Given the description of an element on the screen output the (x, y) to click on. 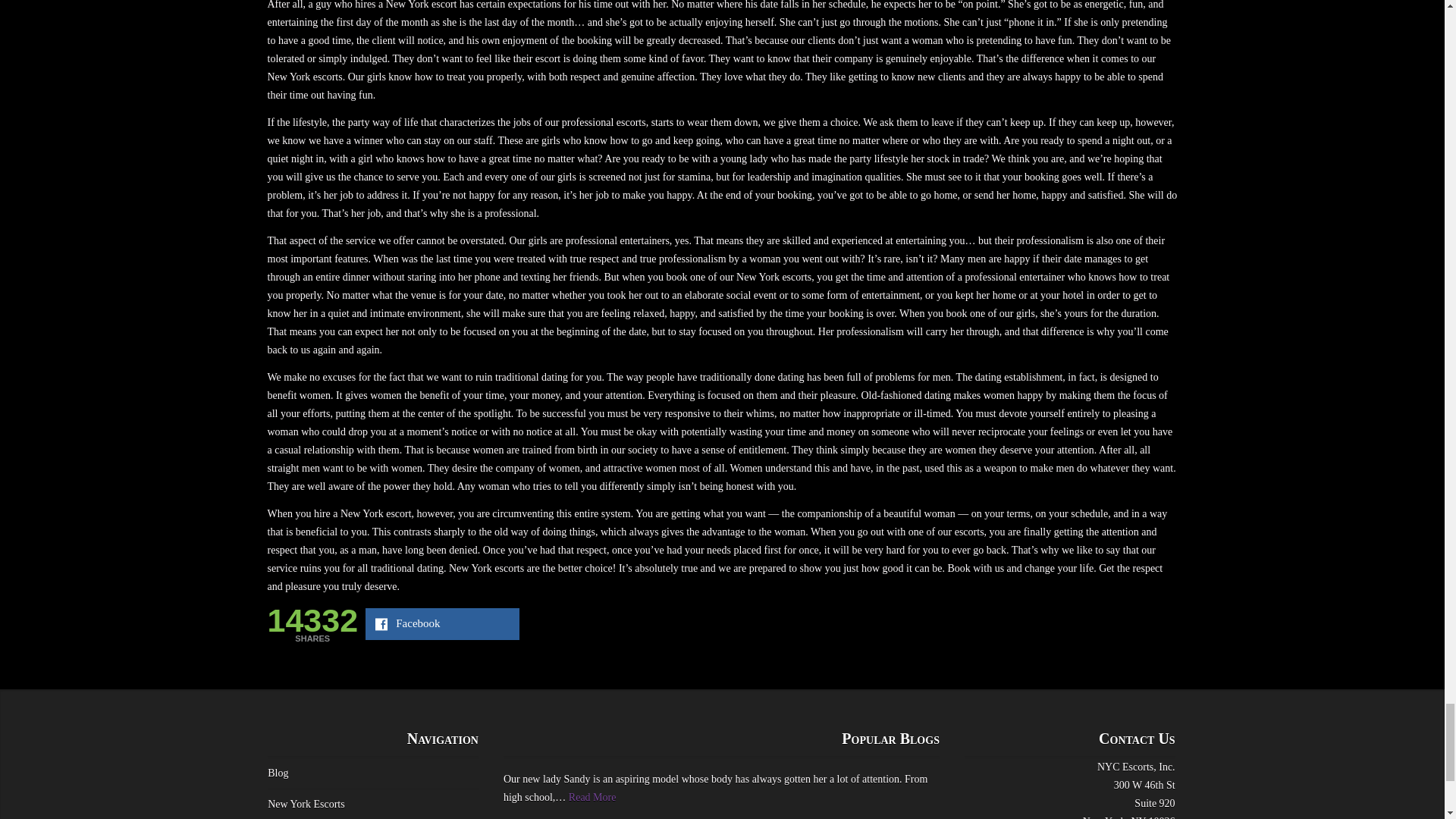
Blog (277, 772)
New York Escorts (306, 803)
Facebook (442, 623)
Read More (592, 797)
